Given the description of an element on the screen output the (x, y) to click on. 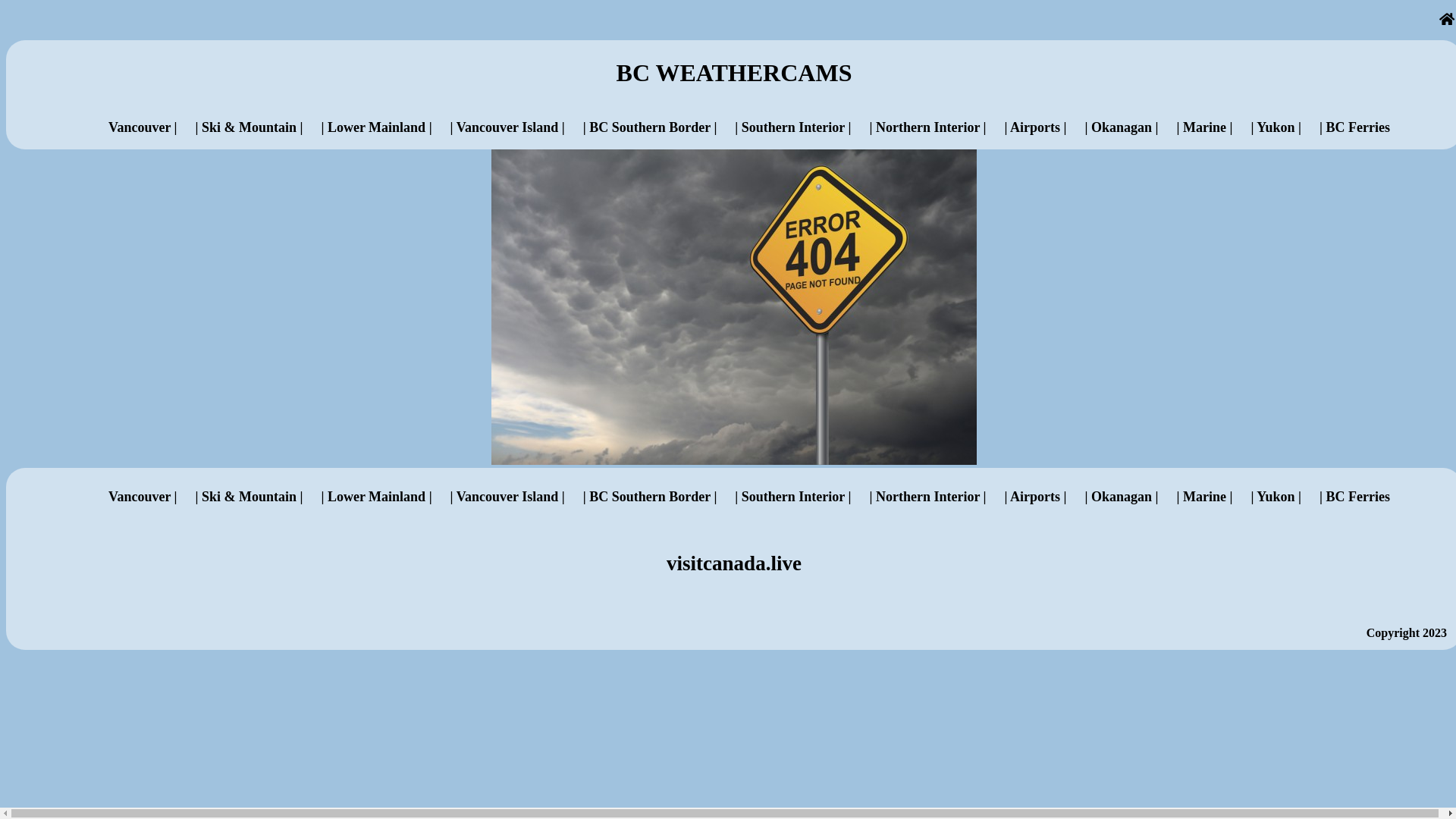
| Okanagan | Element type: text (1120, 496)
Vancouver | Element type: text (142, 496)
| Airports | Element type: text (1035, 127)
| Northern Interior | Element type: text (927, 496)
| Marine | Element type: text (1203, 496)
| Okanagan | Element type: text (1120, 127)
| Ski & Mountain | Element type: text (249, 127)
| Southern Interior | Element type: text (792, 496)
| Yukon | Element type: text (1275, 496)
| Marine | Element type: text (1203, 127)
| Airports | Element type: text (1035, 496)
| BC Ferries Element type: text (1354, 127)
Vancouver | Element type: text (142, 127)
| Lower Mainland | Element type: text (376, 496)
| Ski & Mountain | Element type: text (249, 496)
| BC Ferries Element type: text (1354, 496)
| BC Southern Border | Element type: text (649, 127)
| Vancouver Island | Element type: text (507, 127)
| BC Southern Border | Element type: text (649, 496)
| Vancouver Island | Element type: text (507, 496)
| Lower Mainland | Element type: text (376, 127)
| Southern Interior | Element type: text (792, 127)
| Yukon | Element type: text (1275, 127)
| Northern Interior | Element type: text (927, 127)
